Given the description of an element on the screen output the (x, y) to click on. 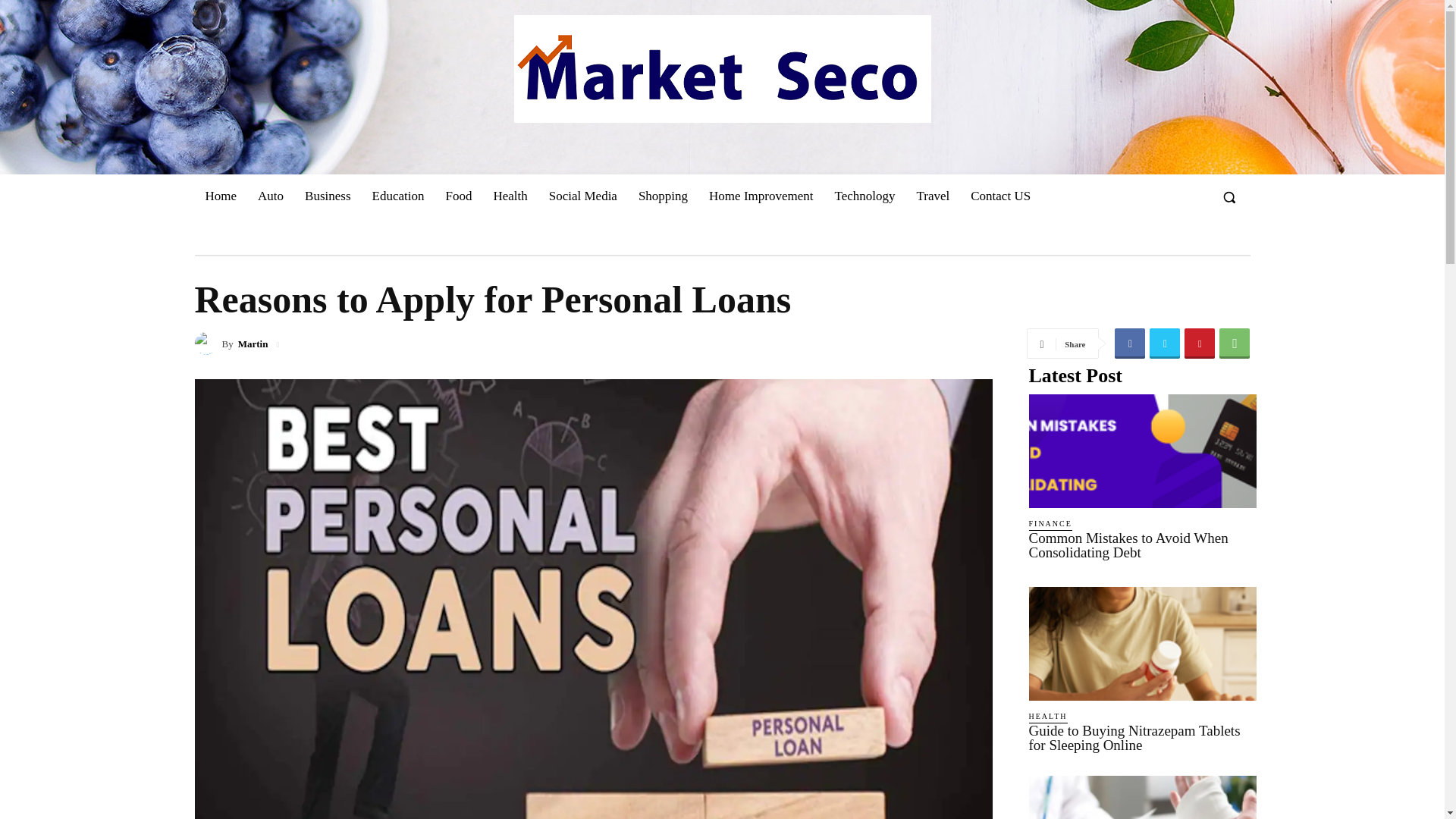
Health (509, 196)
Technology (864, 196)
Auto (270, 196)
Home (220, 196)
Travel (932, 196)
Contact US (1000, 196)
Shopping (662, 196)
Business (327, 196)
Food (457, 196)
Education (398, 196)
Social Media (582, 196)
Home Improvement (761, 196)
